Given the description of an element on the screen output the (x, y) to click on. 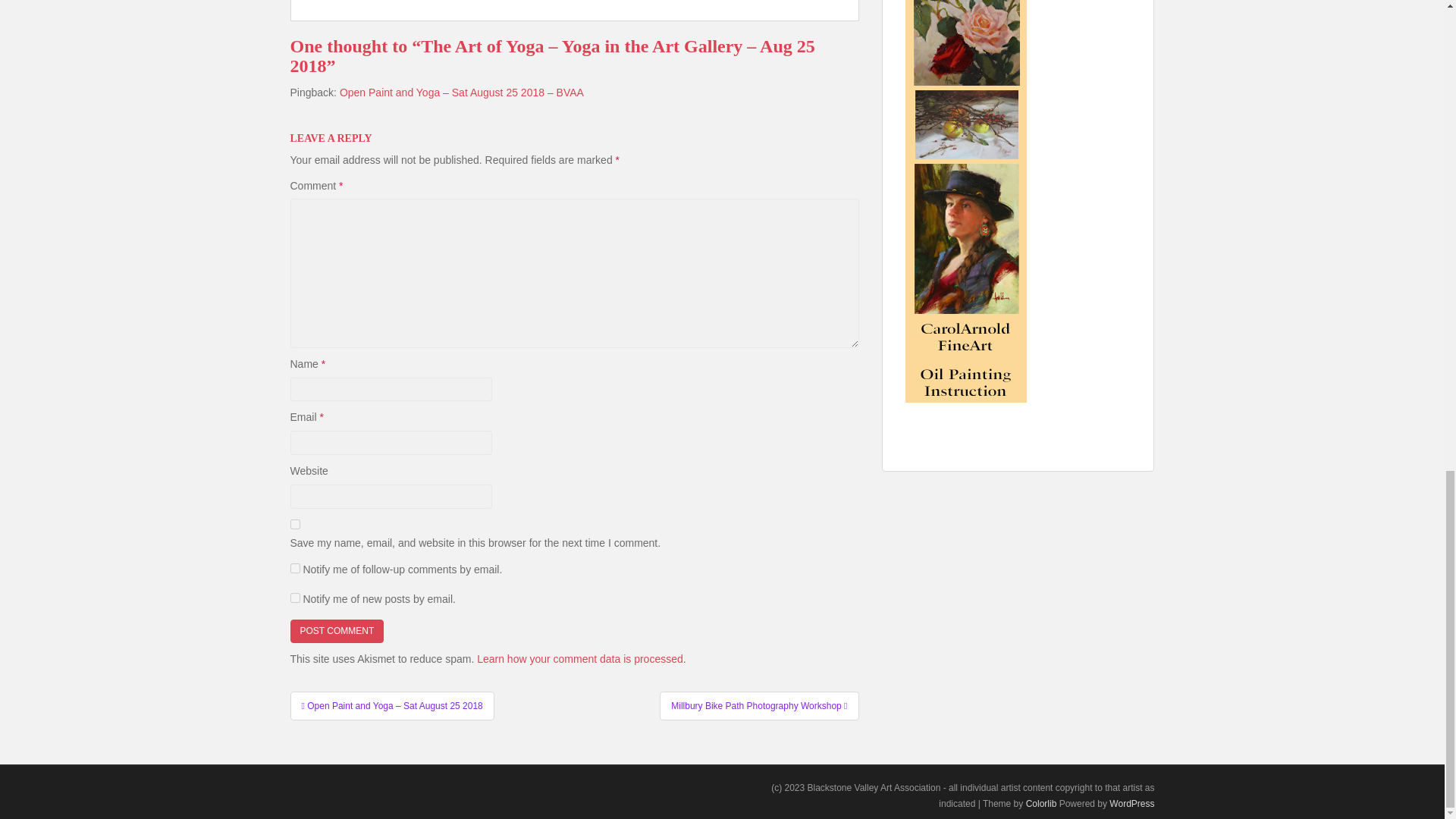
Post Comment (336, 630)
yes (294, 524)
subscribe (294, 597)
subscribe (294, 568)
